Given the description of an element on the screen output the (x, y) to click on. 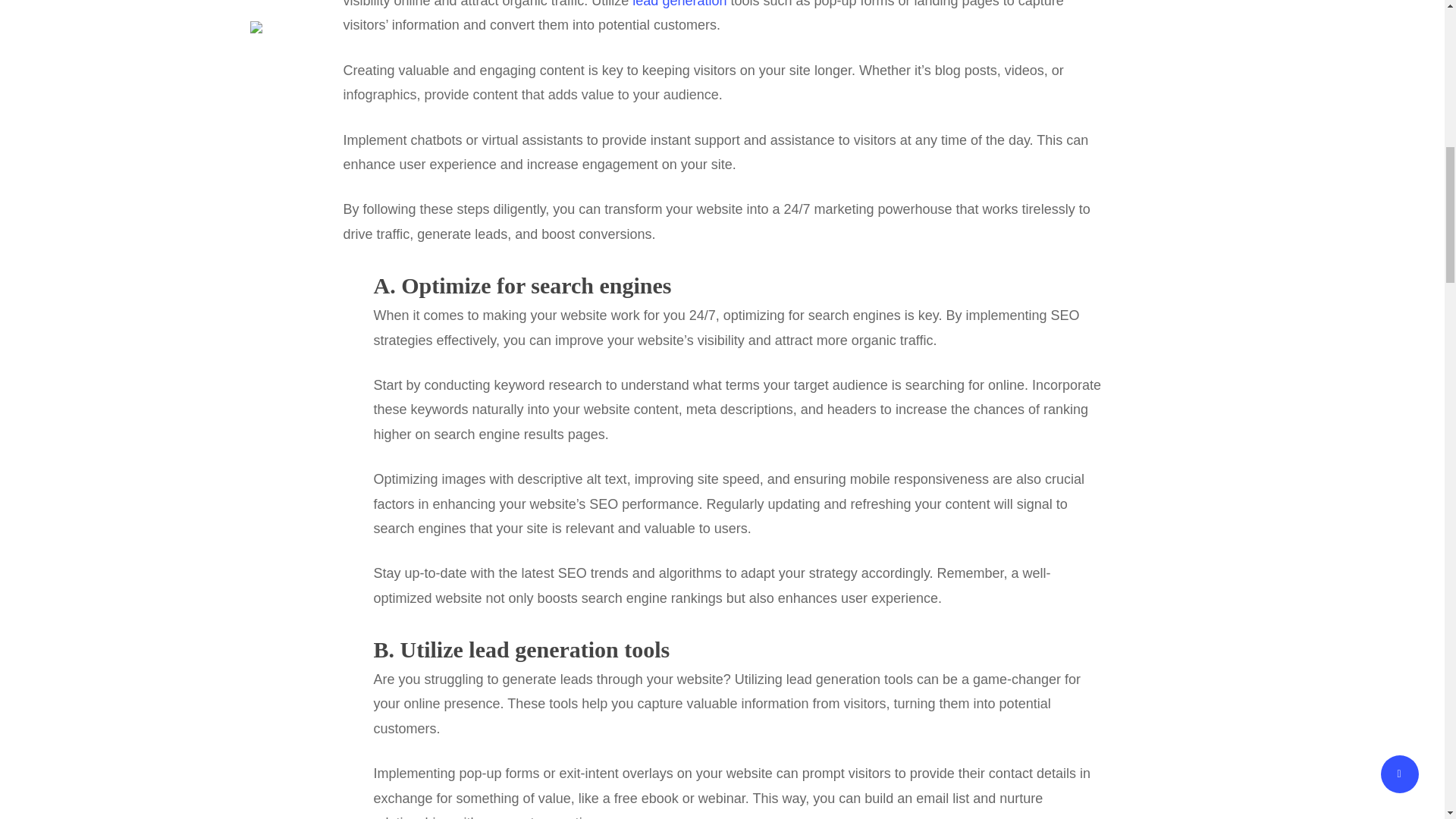
lead generation (678, 4)
